Given the description of an element on the screen output the (x, y) to click on. 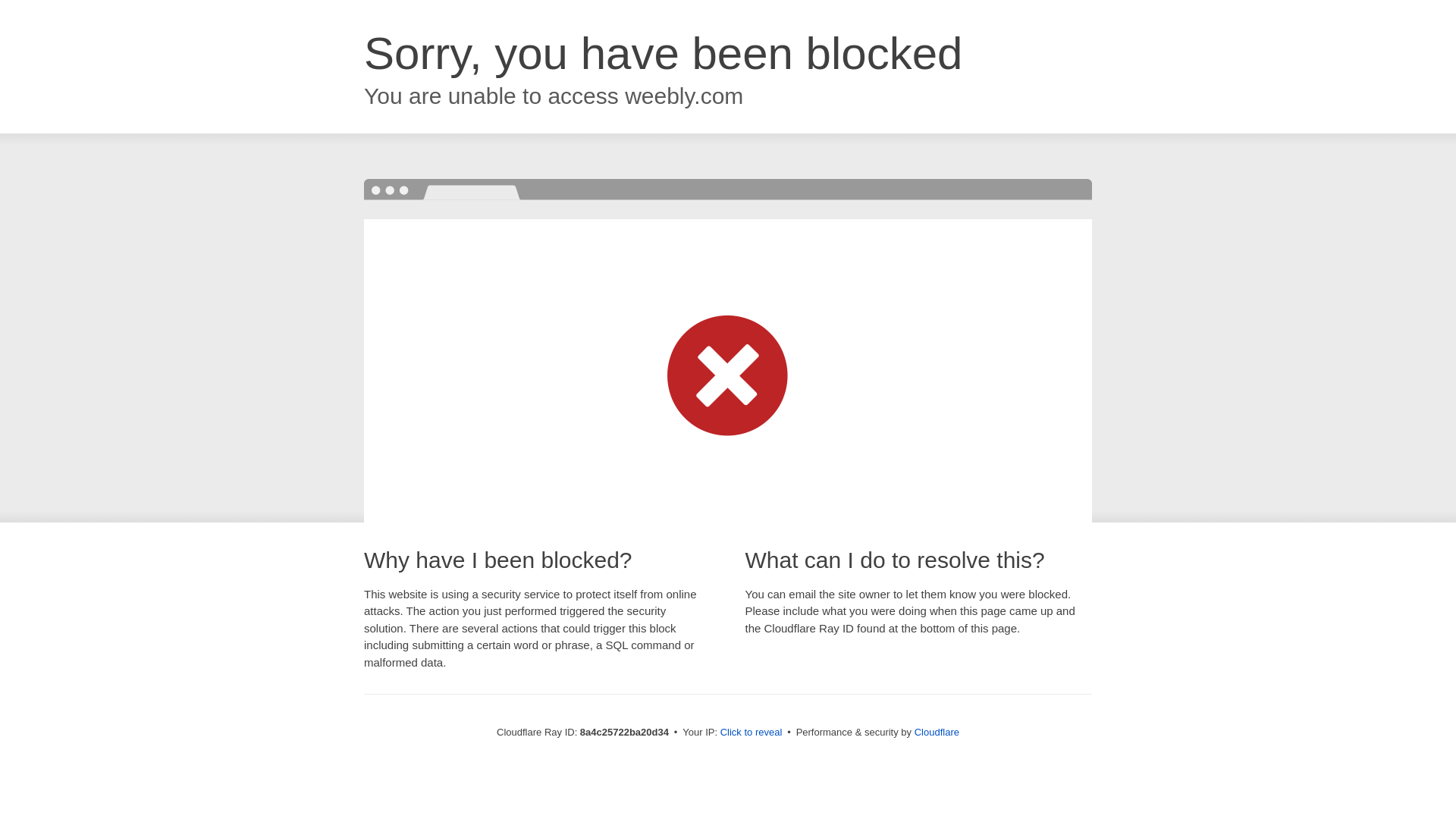
Click to reveal (751, 732)
Cloudflare (936, 731)
